Given the description of an element on the screen output the (x, y) to click on. 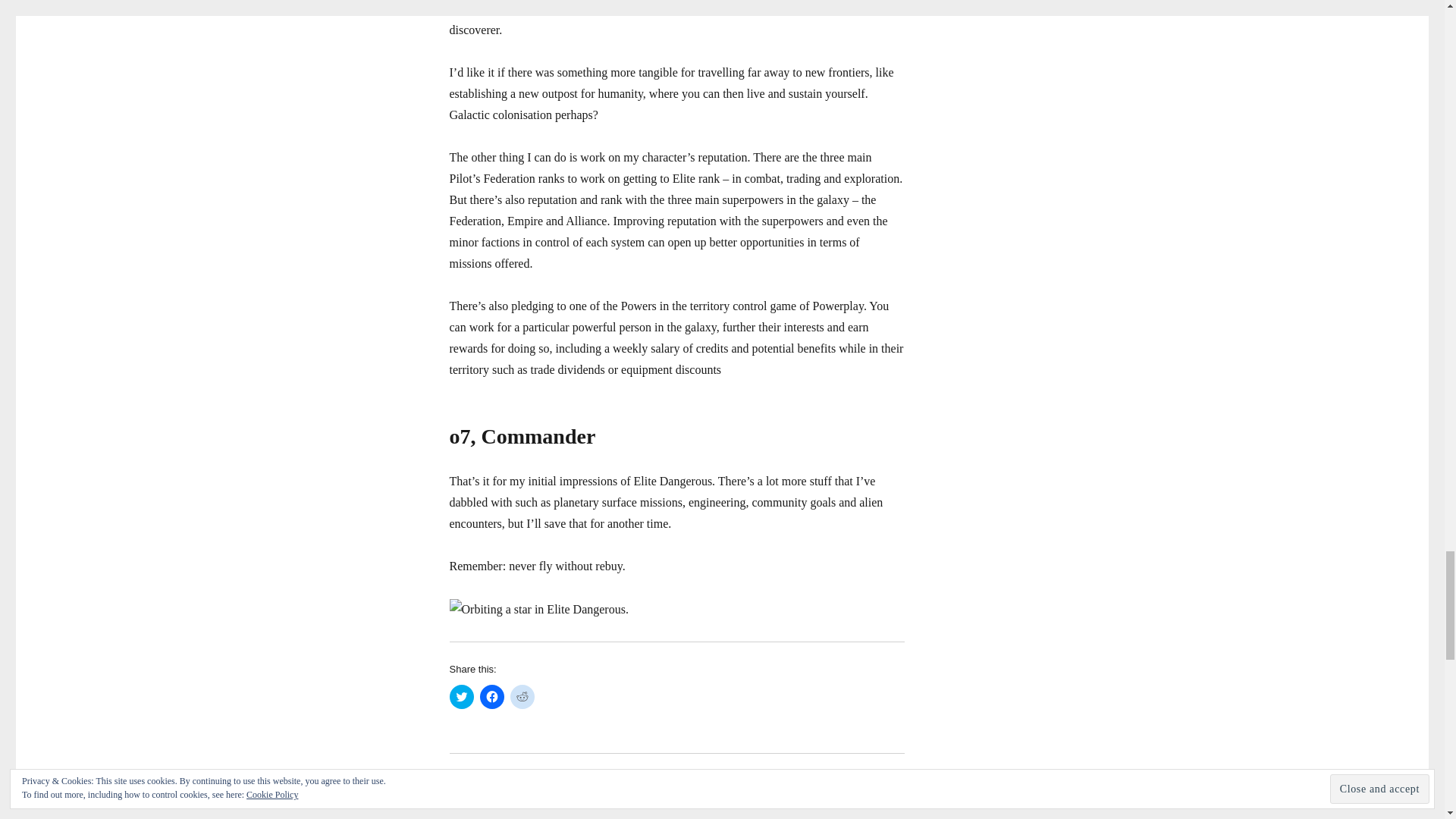
Click to share on Reddit (521, 696)
Click to share on Twitter (460, 696)
Click to share on Facebook (491, 696)
